Given the description of an element on the screen output the (x, y) to click on. 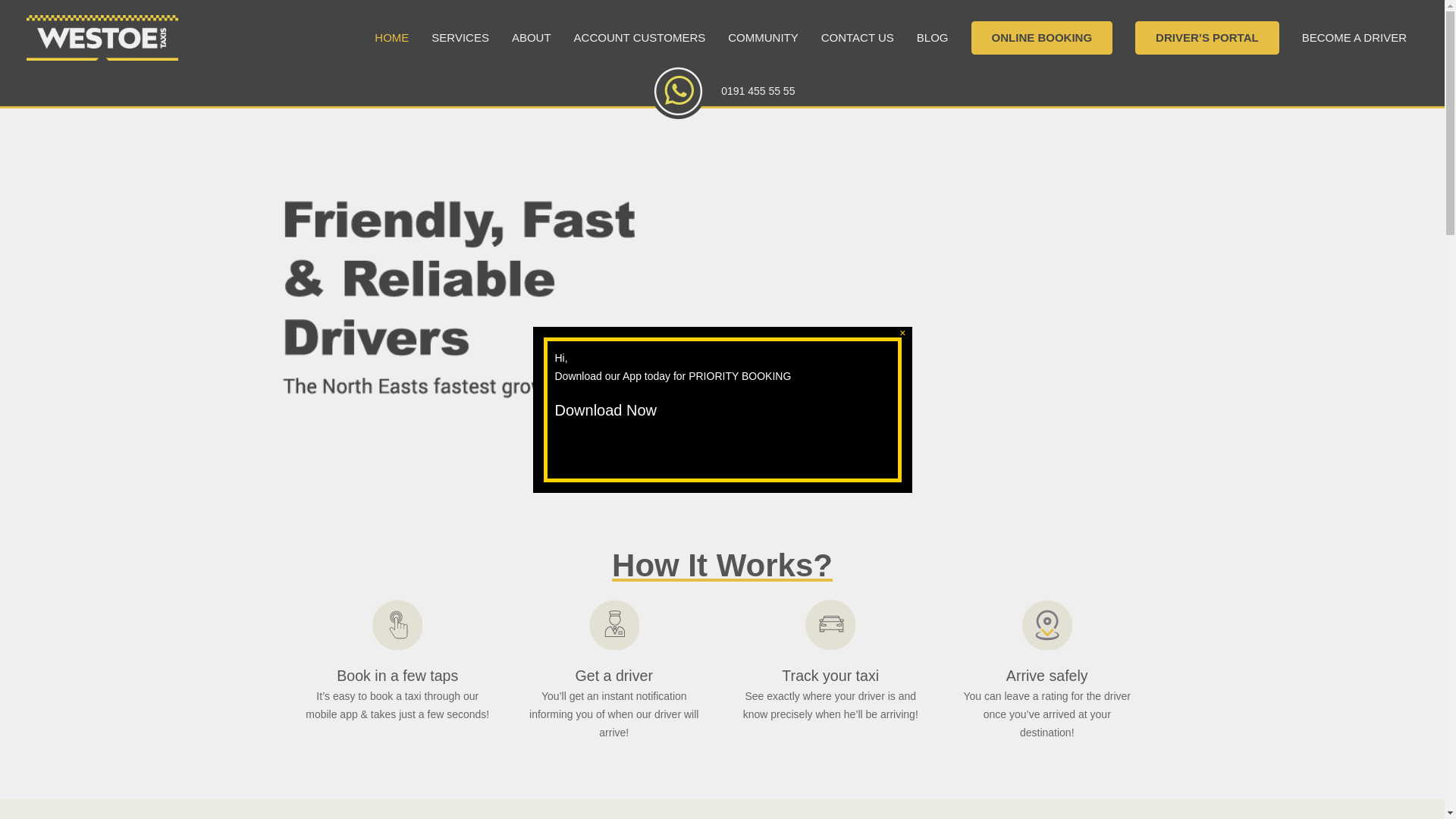
BECOME A DRIVER (1354, 37)
CONTACT US (857, 37)
ONLINE BOOKING (1042, 37)
SERVICES (460, 37)
BLOG (932, 37)
HOME (391, 37)
0191 455 55 55 (757, 91)
ACCOUNT CUSTOMERS (639, 37)
COMMUNITY (762, 37)
ABOUT (531, 37)
